Given the description of an element on the screen output the (x, y) to click on. 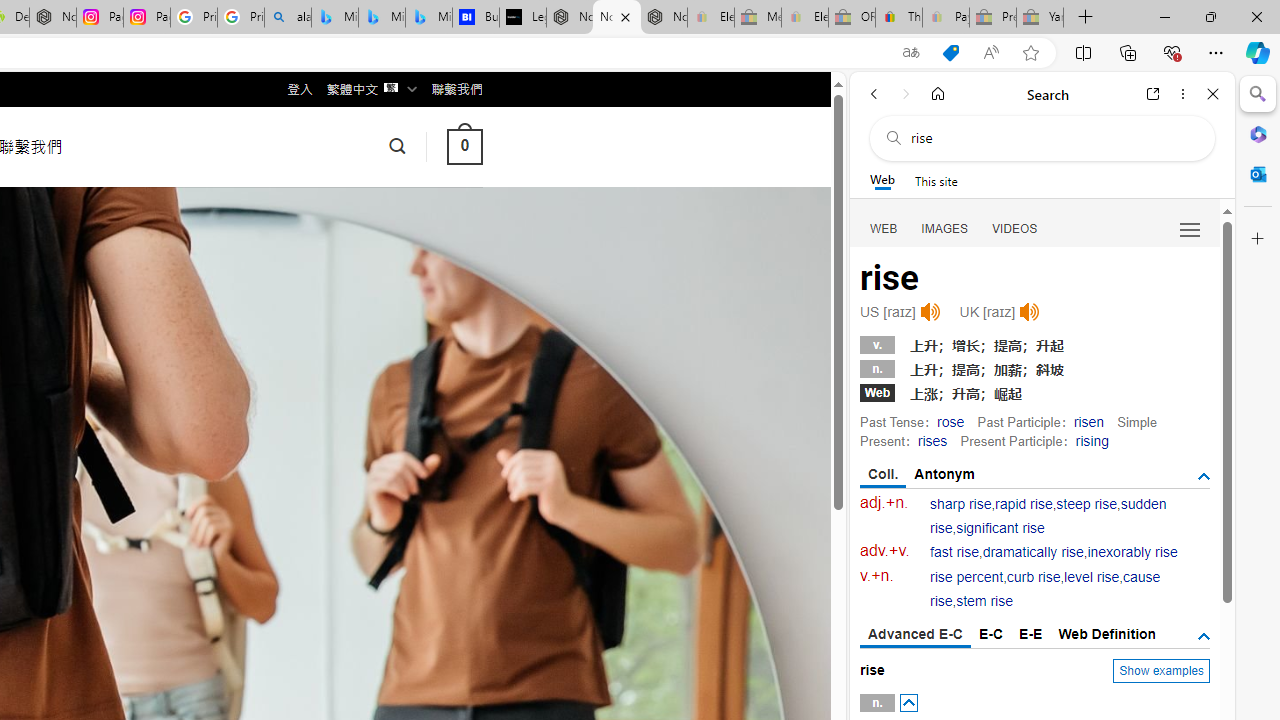
cause rise (1045, 589)
rose (950, 421)
Advanced E-C (915, 635)
E-C (991, 633)
This site has coupons! Shopping in Microsoft Edge (950, 53)
Click to listen (1029, 312)
